Given the description of an element on the screen output the (x, y) to click on. 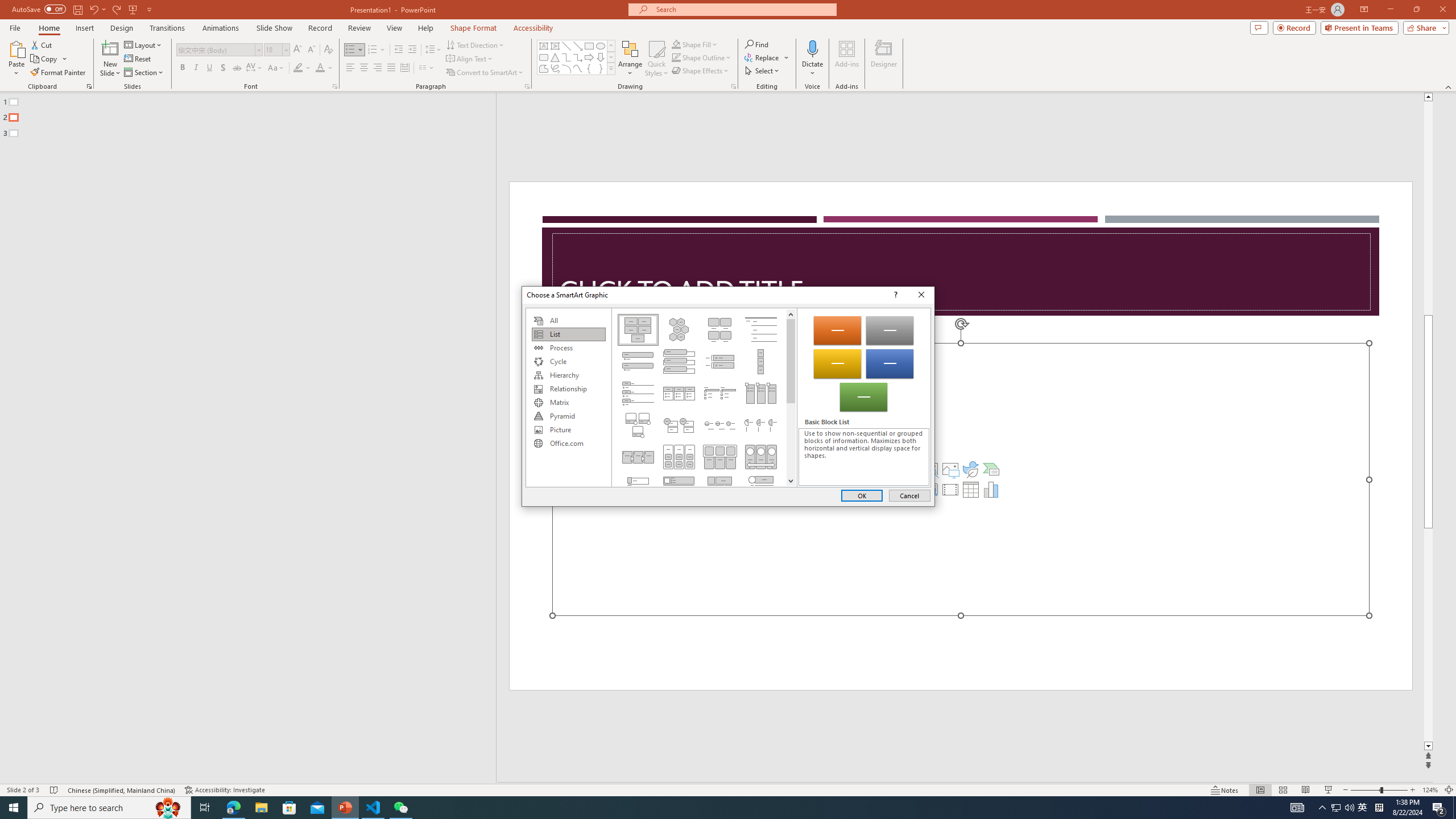
Character Spacing (254, 67)
Class: NetUIScrollBar (790, 397)
Italic (195, 67)
Arrow: Right (589, 57)
User Promoted Notification Area (1342, 807)
Select (762, 69)
Font... (334, 85)
Shapes (611, 68)
Cycle (568, 361)
Shape Fill (694, 44)
Horizontal Bullet List (678, 393)
Class: MsoCommandBar (728, 789)
Vertical Bracket List (719, 361)
Paragraph... (526, 85)
Columns (426, 67)
